Given the description of an element on the screen output the (x, y) to click on. 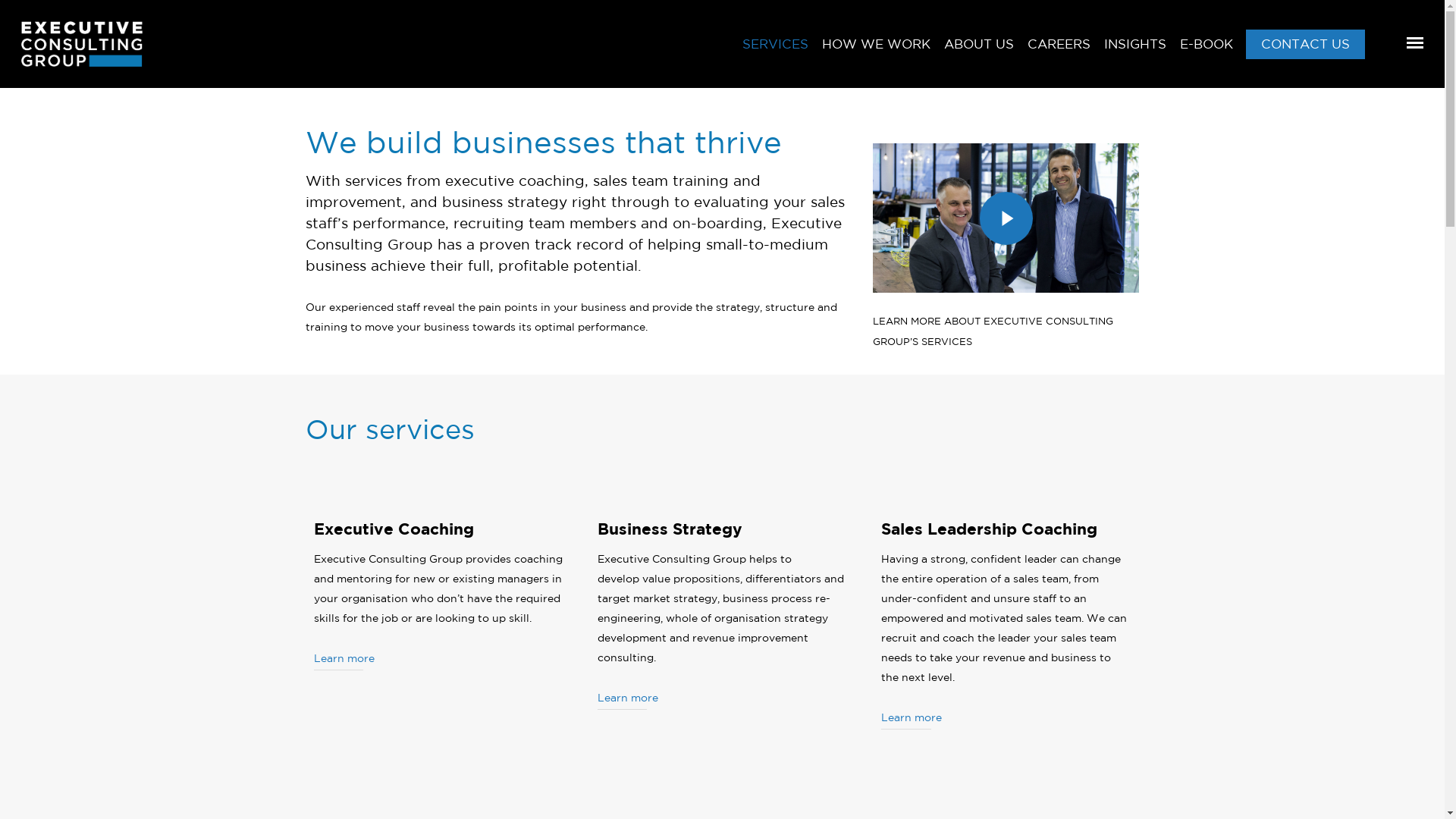
HOW WE WORK Element type: text (875, 54)
Learn more Element type: text (627, 697)
ABOUT US Element type: text (978, 54)
SERVICES Element type: text (775, 54)
CONTACT US Element type: text (1305, 54)
Learn more Element type: text (343, 658)
Learn more Element type: text (911, 717)
E-BOOK Element type: text (1206, 54)
CAREERS Element type: text (1058, 54)
INSIGHTS Element type: text (1135, 54)
